Given the description of an element on the screen output the (x, y) to click on. 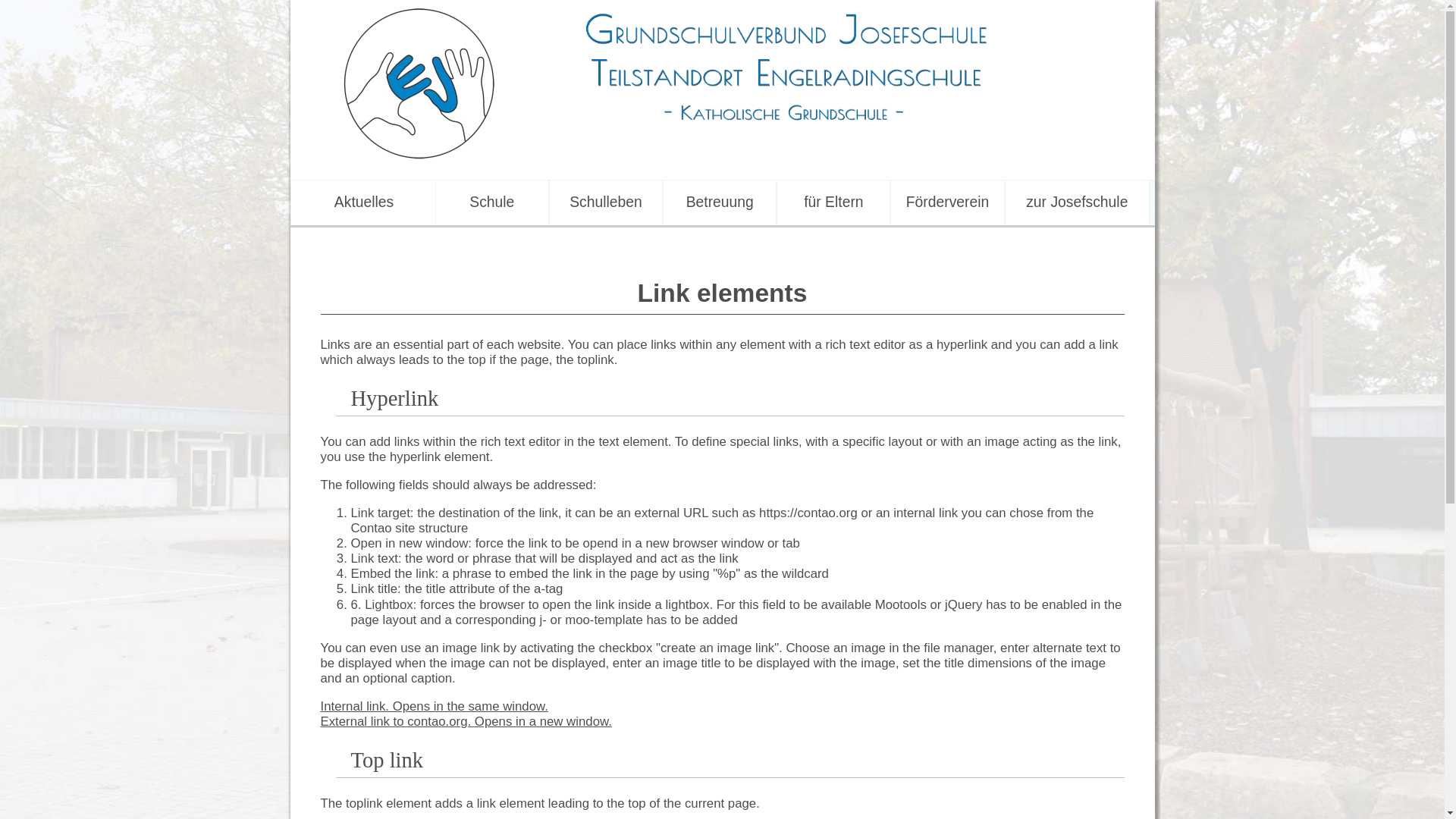
External link to contao.org. Opens in a new window. (465, 721)
zur Josefschule (1077, 202)
Betreuung (719, 202)
Schulleben (606, 202)
Schule (491, 202)
Aktuelles (364, 202)
Internal link. Opens in the same window. (433, 706)
Schulleben Engelrading (606, 202)
Engelradingschule-Aktuell (364, 202)
Engelradingschule (491, 202)
